Given the description of an element on the screen output the (x, y) to click on. 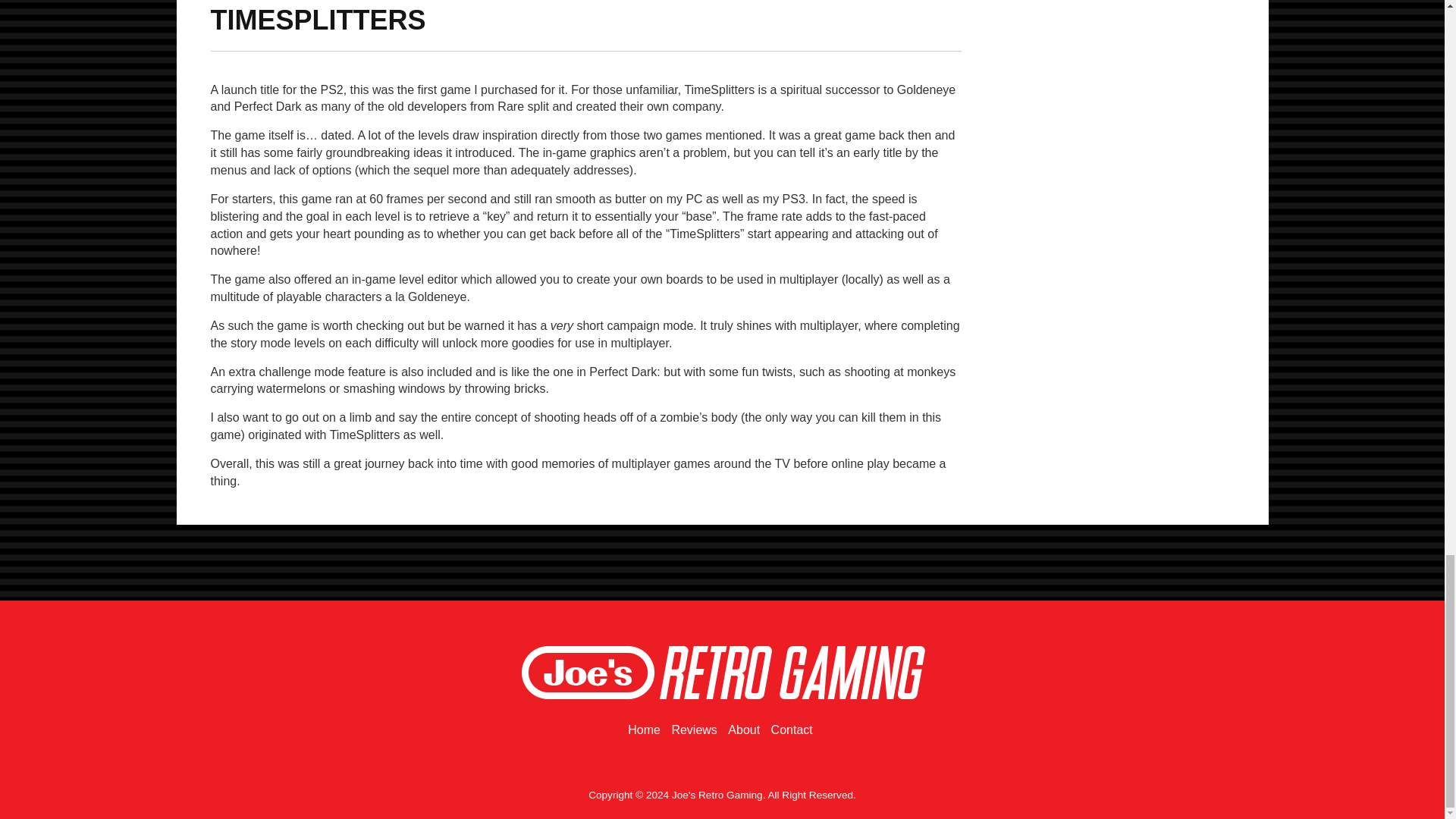
Reviews (693, 729)
Home (644, 729)
About (744, 729)
Contact (791, 729)
